Given the description of an element on the screen output the (x, y) to click on. 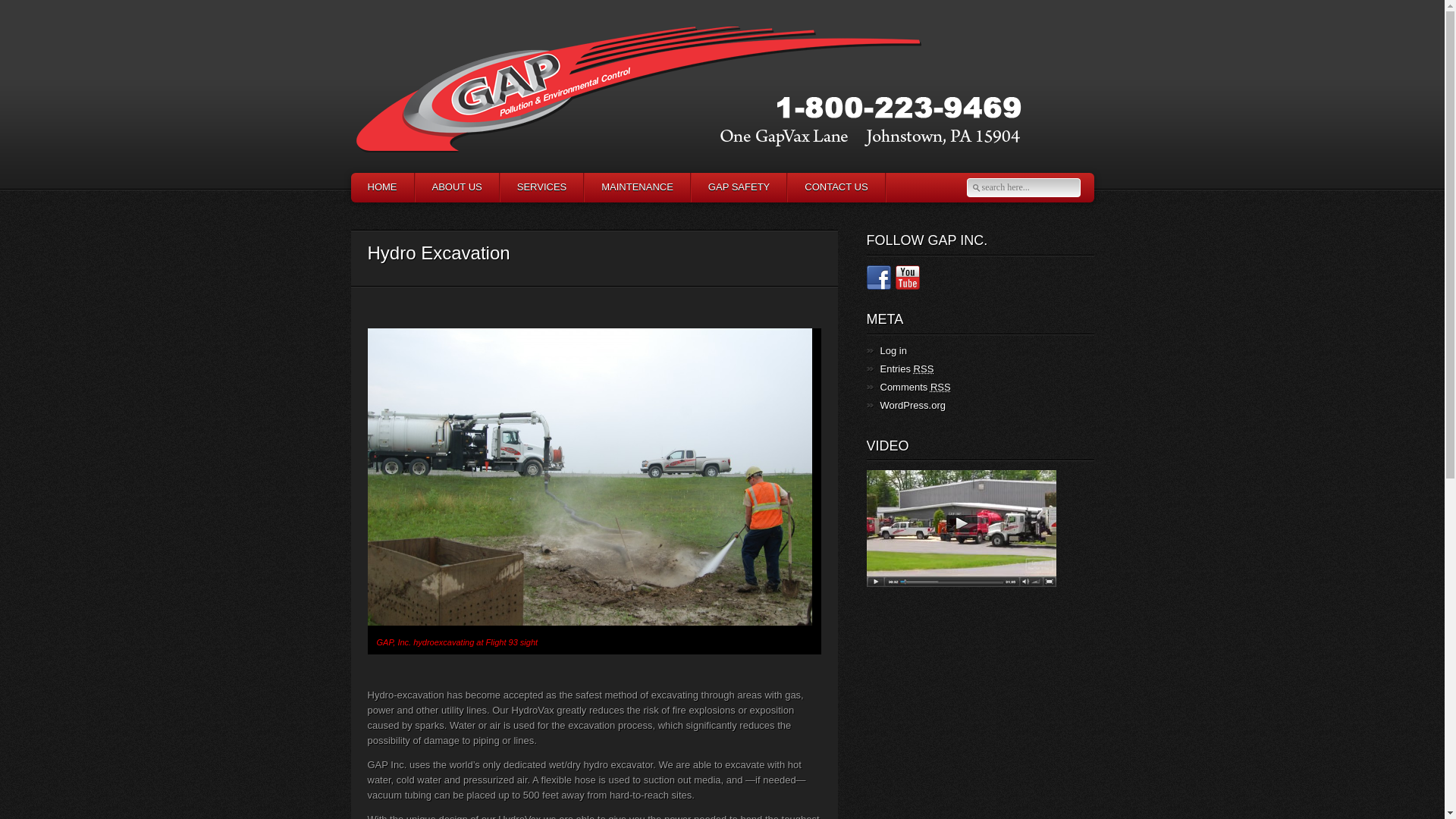
Log in (892, 350)
Comments RSS (914, 387)
ABOUT US (455, 187)
Really Simple Syndication (940, 387)
HYDRO EXCAVATING, GAP Inc. (588, 476)
MAINTENANCE (636, 187)
GAP SAFETY (738, 187)
CONTACT US (836, 187)
WordPress.org (911, 405)
HOME (381, 187)
